Given the description of an element on the screen output the (x, y) to click on. 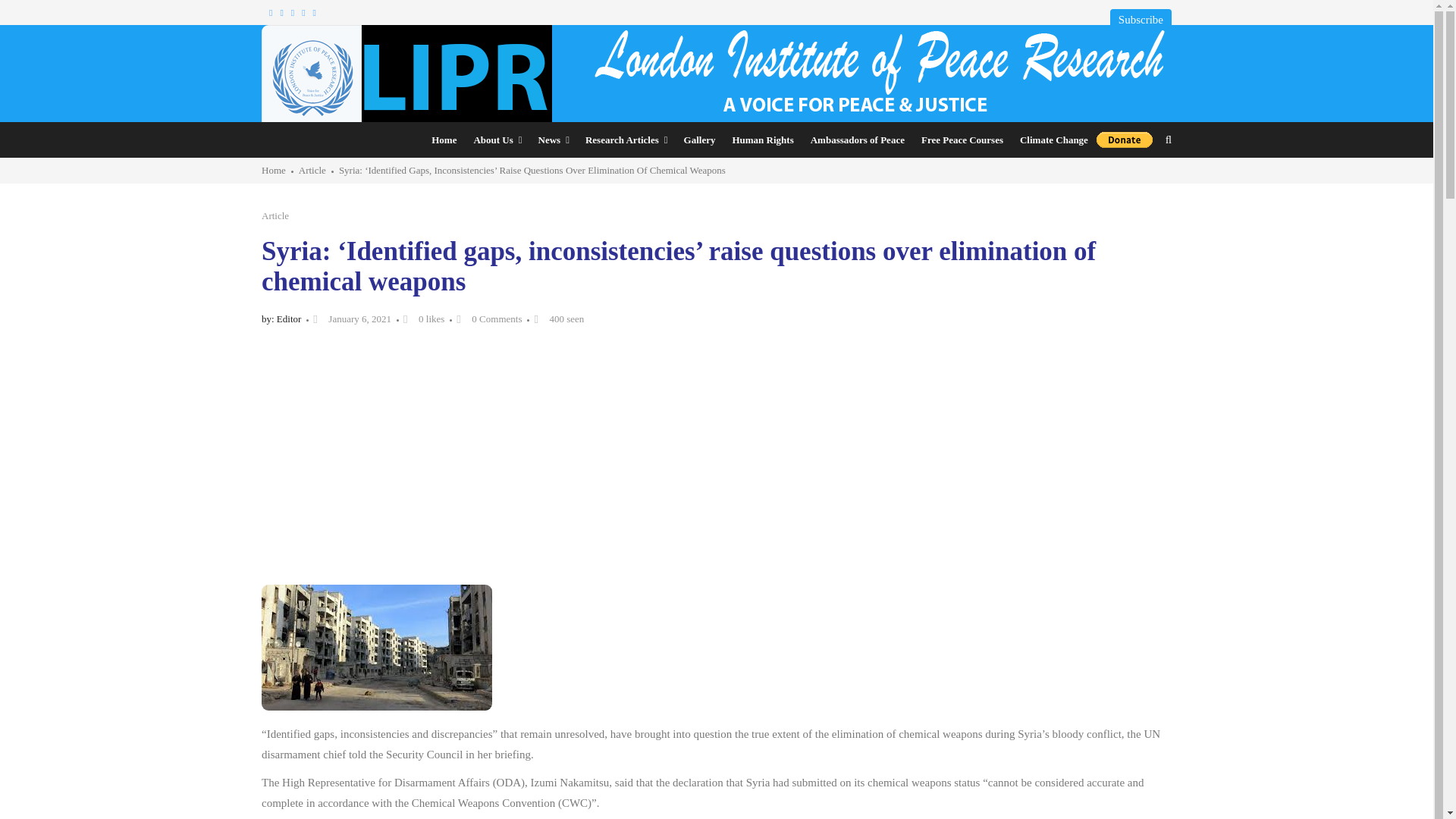
Human Rights (762, 140)
About Us (496, 140)
Gallery (699, 140)
Like this (421, 318)
Climate Change (1053, 140)
Ambassadors of Peace (857, 140)
Home (443, 140)
News (552, 140)
Research Articles (625, 140)
Free Peace Courses (961, 140)
Subscribe (1140, 19)
